Given the description of an element on the screen output the (x, y) to click on. 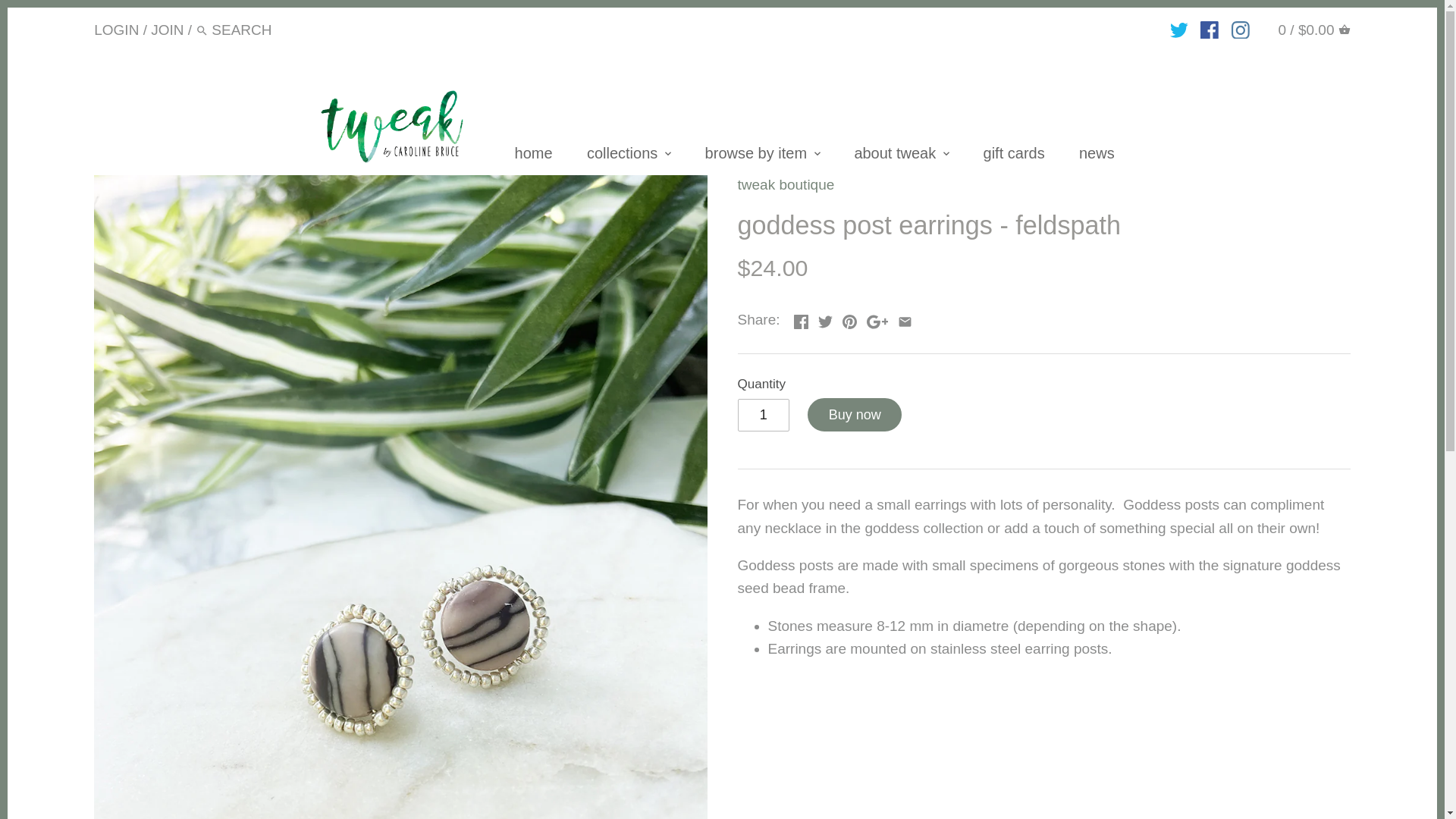
INSTAGRAM (1240, 30)
Share on Facebook (800, 317)
Facebook (800, 321)
CART (1344, 29)
Pin the main image (850, 317)
TWITTER (1179, 30)
Twitter (825, 321)
GooglePlus (877, 321)
Pinterest (850, 321)
1 (762, 414)
